Given the description of an element on the screen output the (x, y) to click on. 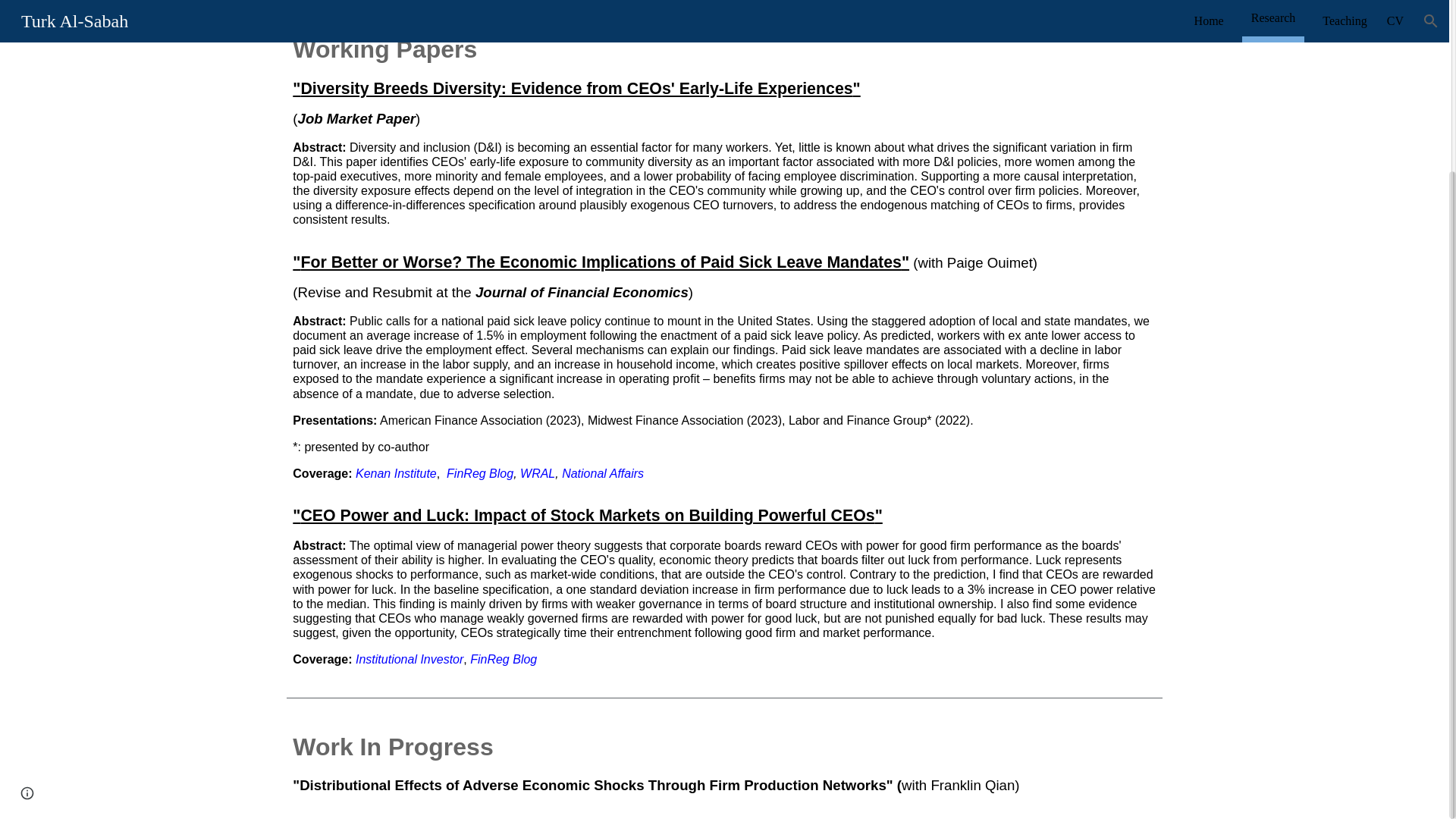
FinReg Blog (479, 472)
Institutional Investor (409, 658)
National Affairs (602, 472)
FinReg Blog (503, 658)
WRAL (536, 472)
Kenan Institute (395, 472)
